Given the description of an element on the screen output the (x, y) to click on. 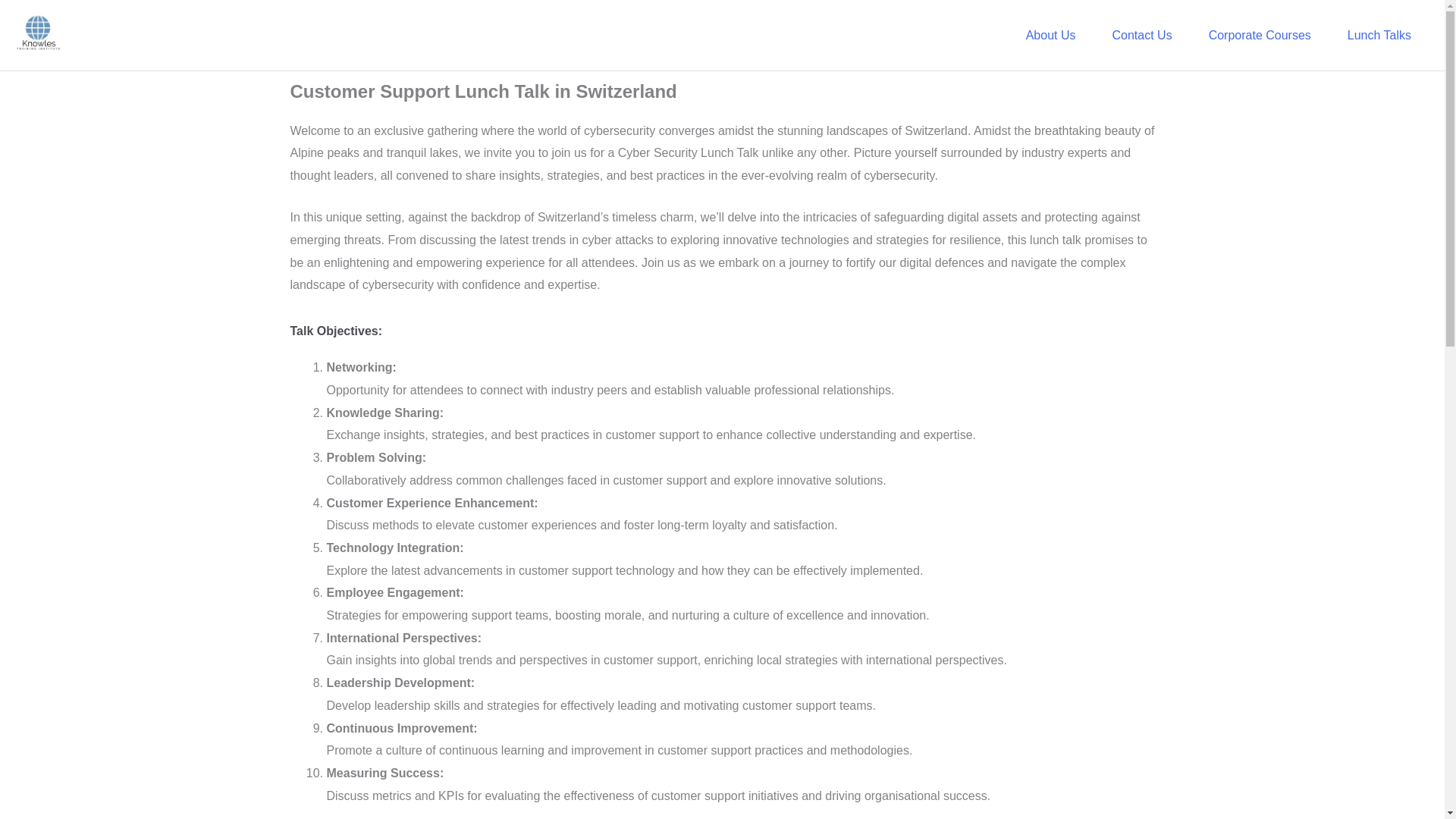
Corporate Courses (1260, 34)
Lunch Talks (1379, 34)
About Us (1050, 34)
Contact Us (1141, 34)
